Given the description of an element on the screen output the (x, y) to click on. 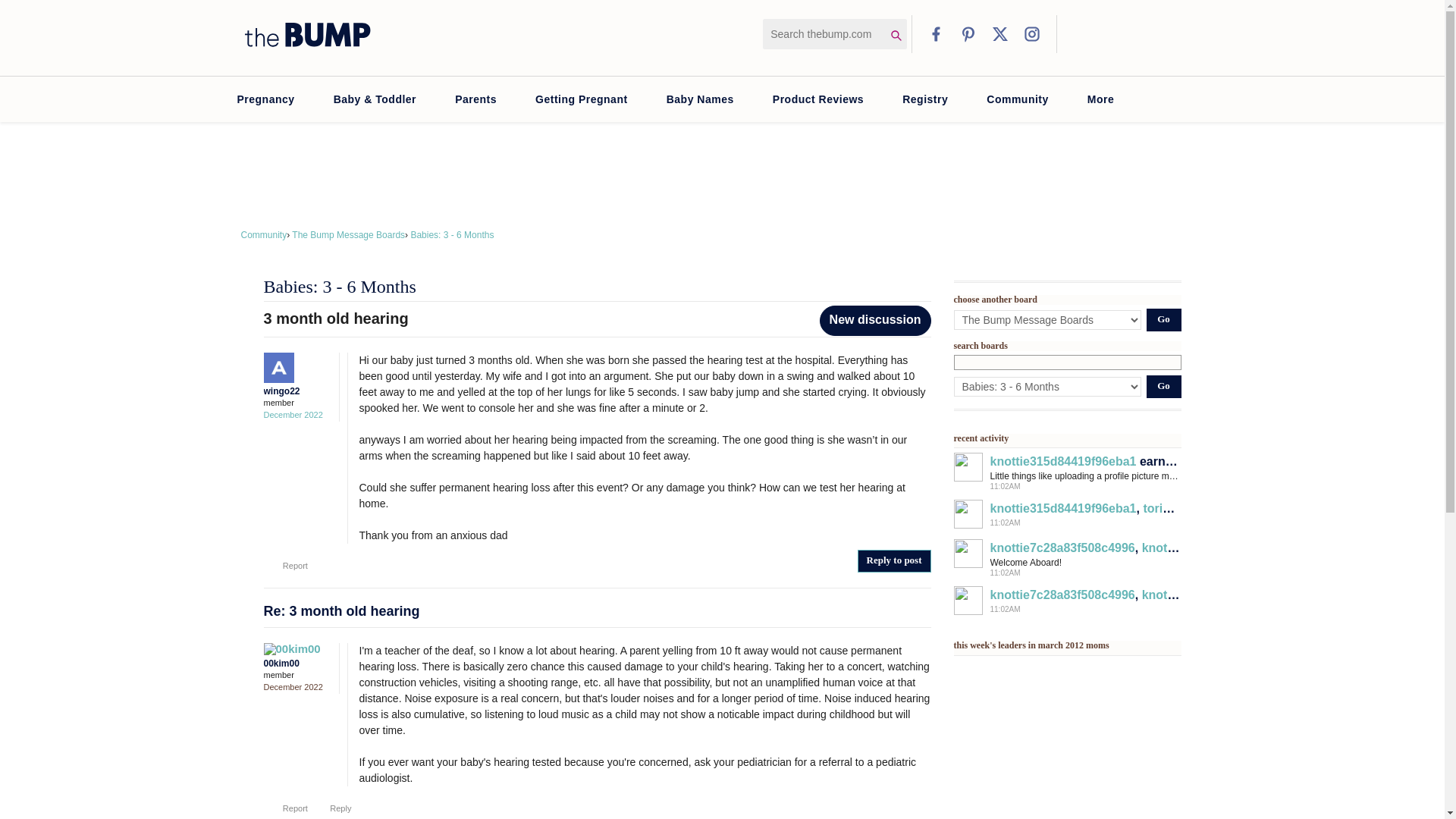
Pregnancy (264, 99)
00kim00 (293, 648)
Report (285, 565)
December 2, 2022 1:20AM (293, 686)
Options (811, 315)
December 1, 2022 9:17PM (293, 414)
member (297, 402)
wingo22 (293, 367)
Report (285, 807)
Go (1163, 319)
